Given the description of an element on the screen output the (x, y) to click on. 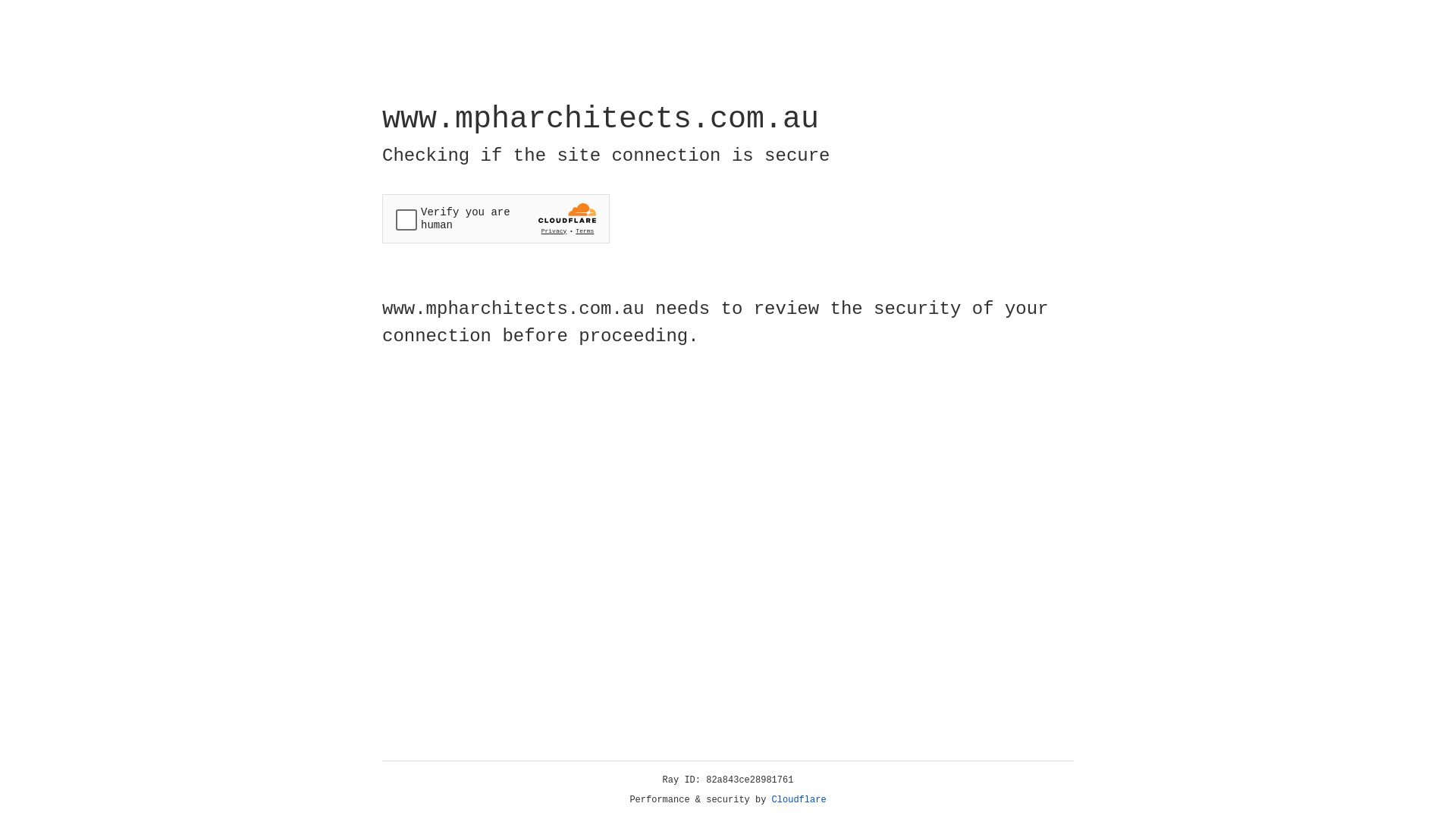
Widget containing a Cloudflare security challenge Element type: hover (495, 218)
Cloudflare Element type: text (798, 799)
